Given the description of an element on the screen output the (x, y) to click on. 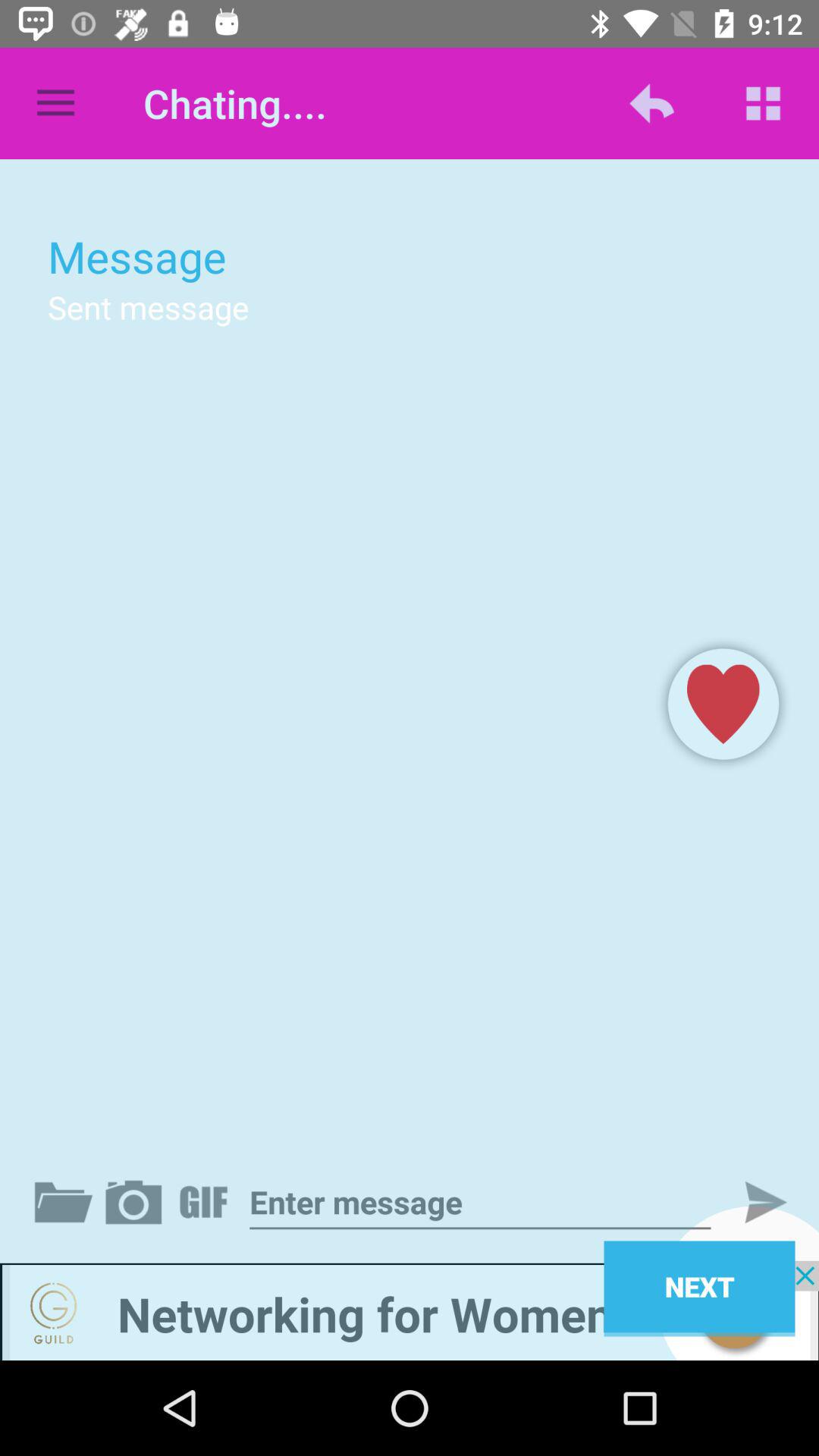
attach a file (66, 1202)
